Given the description of an element on the screen output the (x, y) to click on. 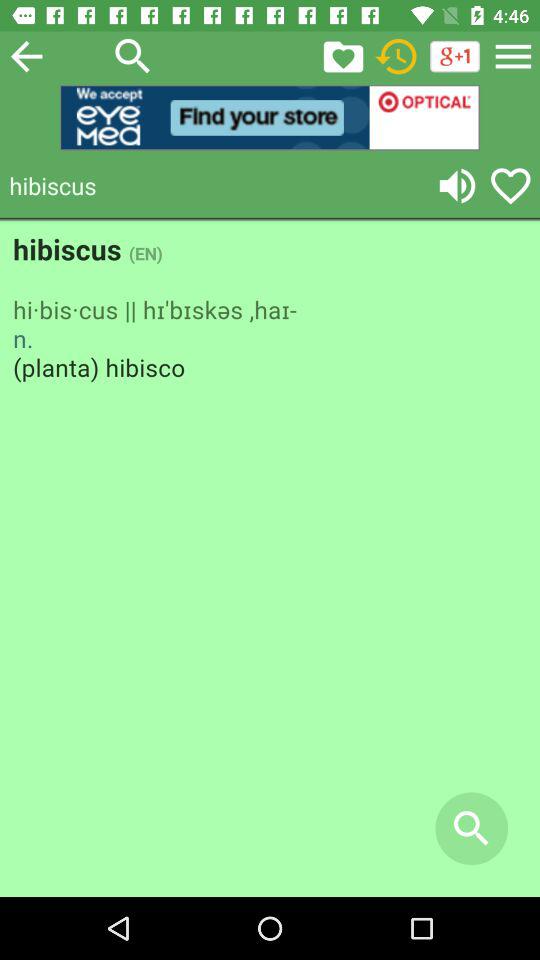
advertisement banner (270, 117)
